Given the description of an element on the screen output the (x, y) to click on. 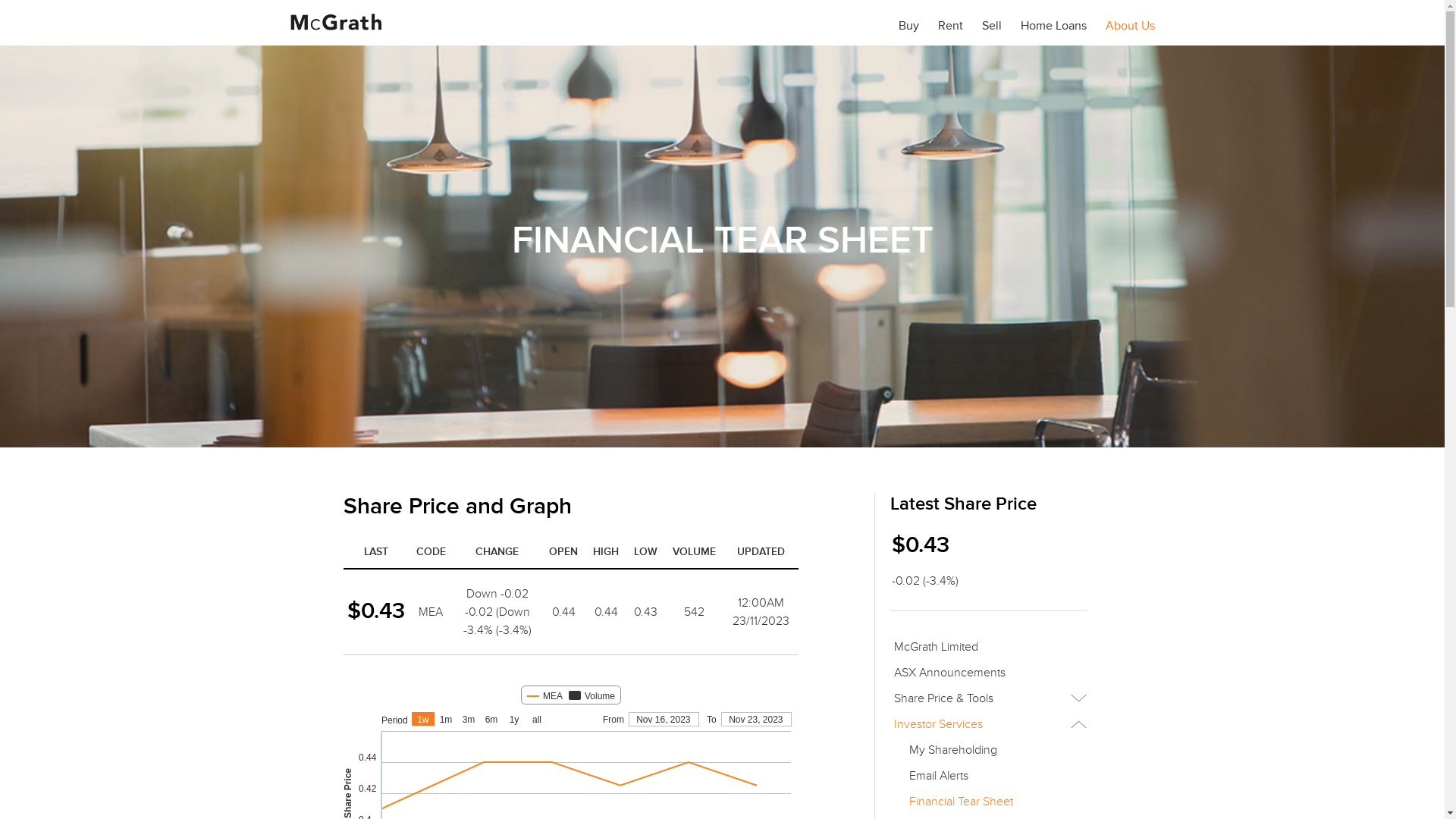
Home Loans Element type: text (1053, 27)
Share Price & Tools Element type: text (988, 698)
McGrath Limited Element type: text (988, 646)
Buy Element type: text (907, 27)
Financial Tear Sheet Element type: text (995, 801)
My Shareholding Element type: text (995, 749)
Investor Services Element type: text (988, 724)
Sell Element type: text (991, 27)
ASX Announcements Element type: text (988, 672)
Email Alerts Element type: text (995, 775)
About Us Element type: text (1129, 27)
Rent Element type: text (949, 27)
